Given the description of an element on the screen output the (x, y) to click on. 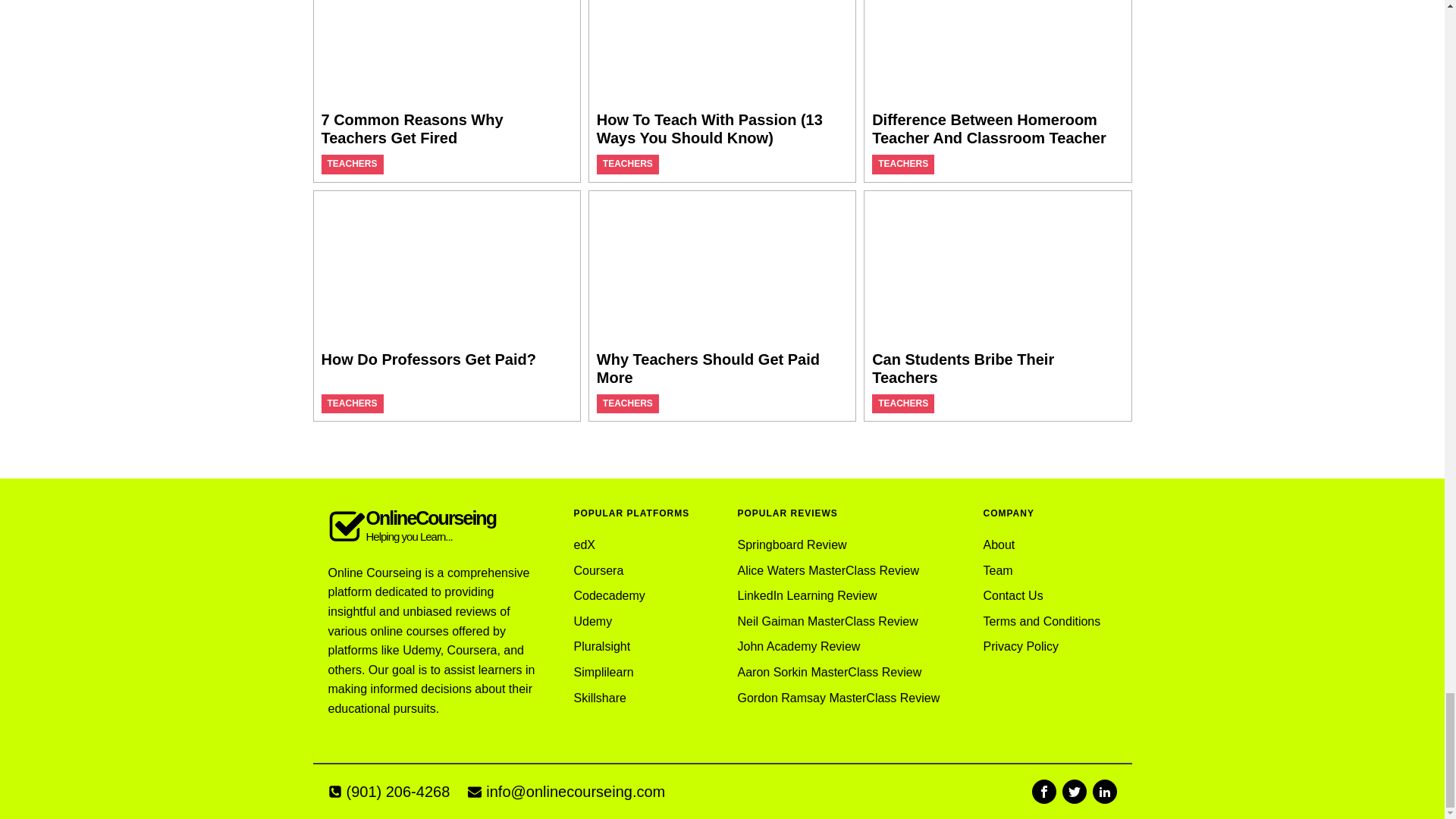
Udemy (609, 621)
TEACHERS (902, 403)
How Do Professors Get Paid? (428, 359)
TEACHERS (627, 403)
7 Common Reasons Why Teachers Get Fired (412, 128)
Why Teachers Should Get Paid More (707, 368)
Codecademy (609, 596)
Difference Between Homeroom Teacher And Classroom Teacher (989, 128)
TEACHERS (627, 163)
Can Students Bribe Their Teachers (963, 368)
edX (609, 544)
Coursera (609, 570)
TEACHERS (352, 163)
TEACHERS (352, 403)
TEACHERS (902, 163)
